Given the description of an element on the screen output the (x, y) to click on. 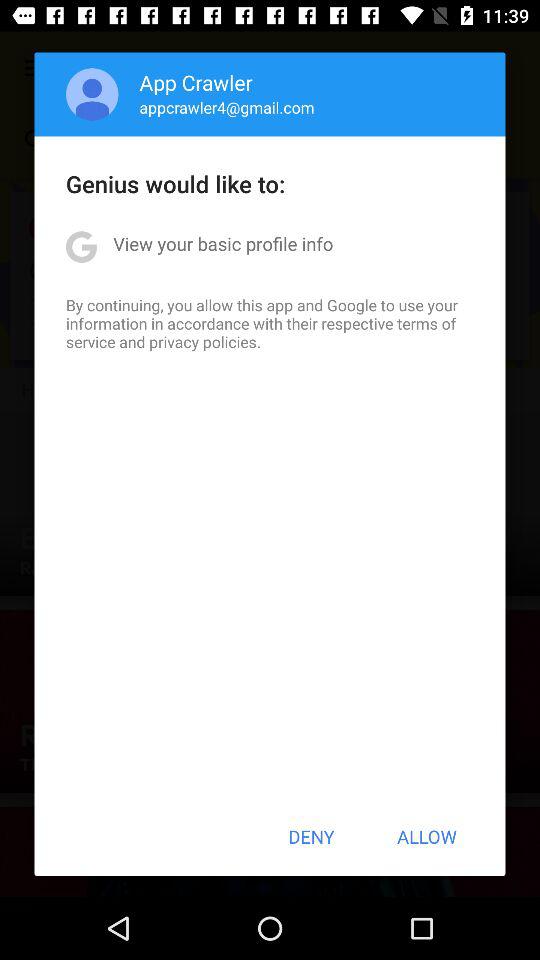
tap the item at the bottom (311, 836)
